Given the description of an element on the screen output the (x, y) to click on. 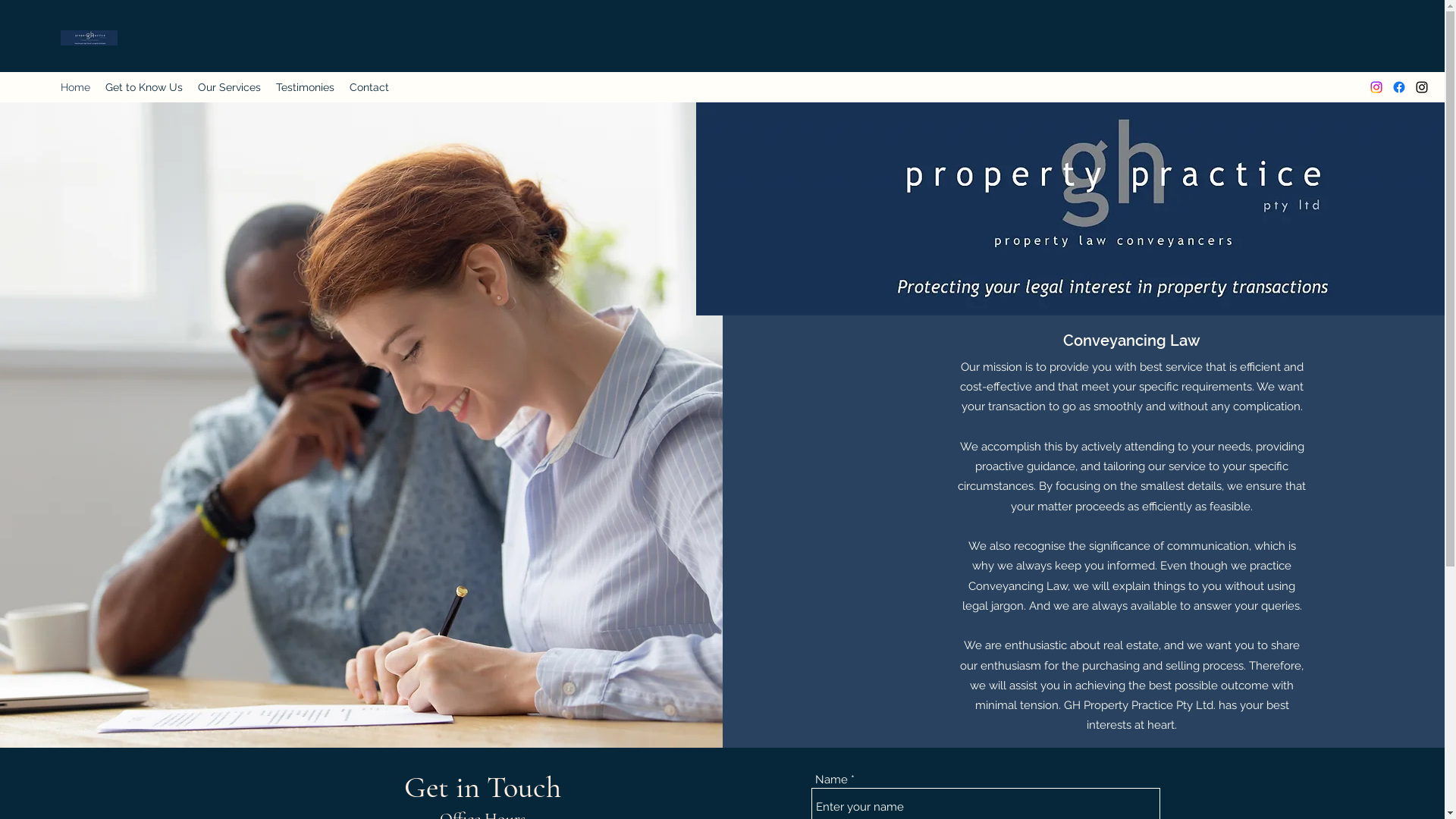
Testimonies Element type: text (305, 86)
Get to Know Us Element type: text (143, 86)
Home Element type: text (75, 86)
Contact Element type: text (369, 86)
Our Services Element type: text (229, 86)
